Given the description of an element on the screen output the (x, y) to click on. 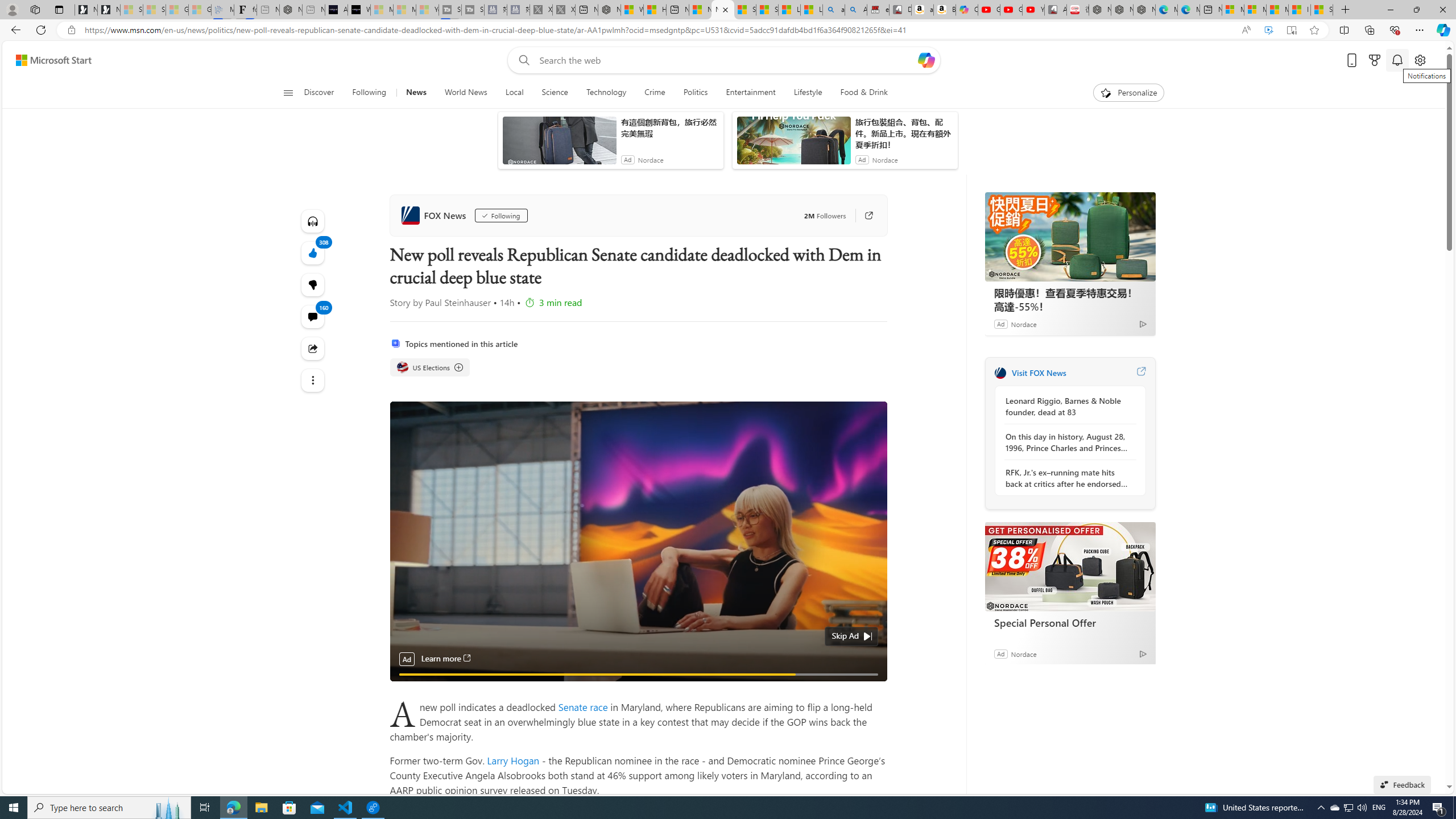
anim-content (793, 144)
Feedback (1402, 784)
Science (554, 92)
New tab - Sleeping (313, 9)
Copilot (966, 9)
YouTube Kids - An App Created for Kids to Explore Content (1033, 9)
amazon - Search (834, 9)
All Cubot phones (1055, 9)
Microsoft Start - Sleeping (404, 9)
News (415, 92)
Larry Hogan (513, 759)
